Given the description of an element on the screen output the (x, y) to click on. 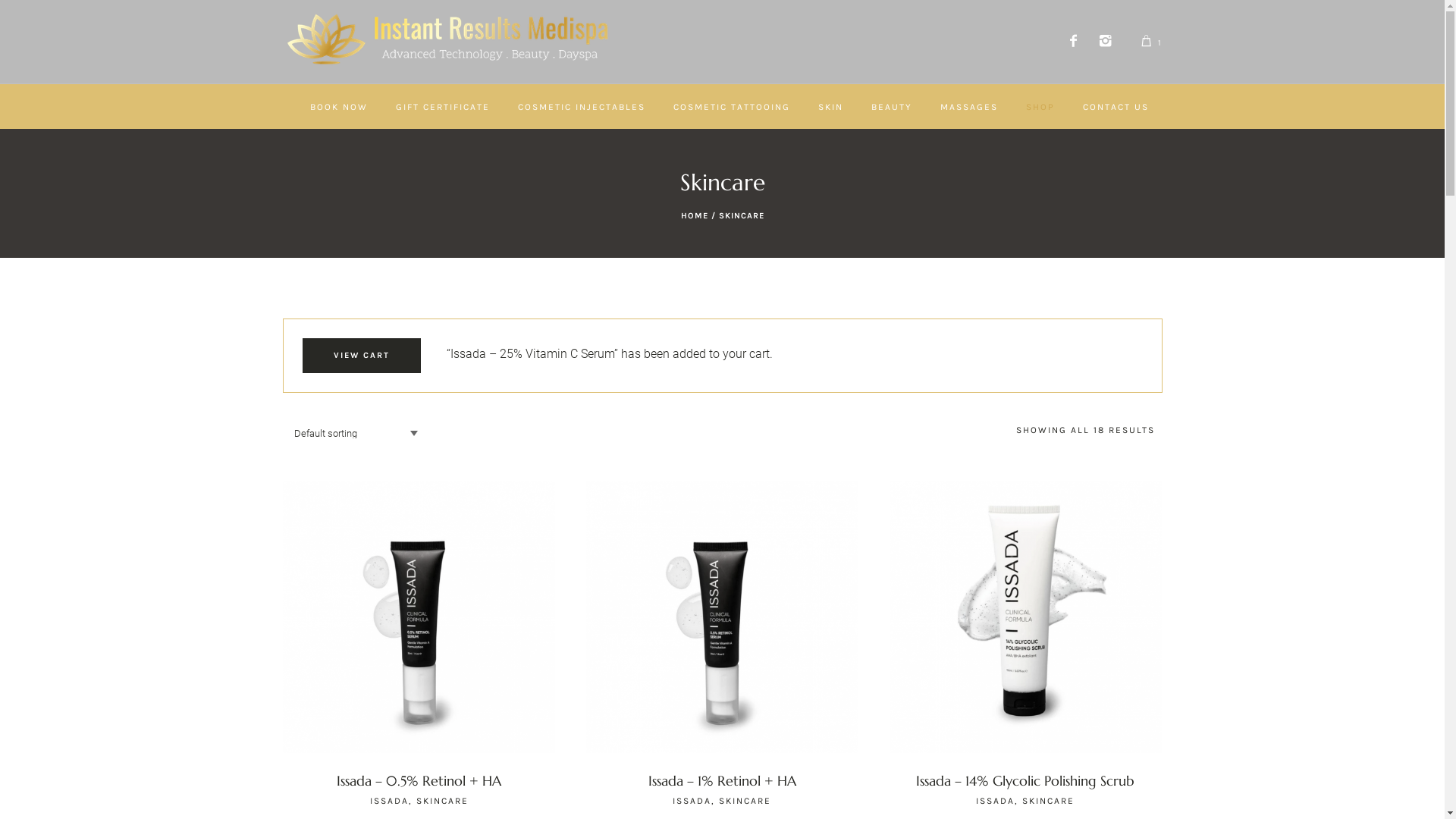
ISSADA Element type: text (389, 800)
SKINCARE Element type: text (744, 800)
GIFT CERTIFICATE Element type: text (442, 106)
ISSADA Element type: text (691, 800)
Instagram Element type: hover (1105, 42)
BOOK NOW Element type: text (337, 106)
VIEW CART Element type: text (360, 355)
SKINCARE Element type: text (442, 800)
SHOP Element type: text (1039, 106)
HOME Element type: text (694, 215)
COSMETIC INJECTABLES Element type: text (580, 106)
ISSADA Element type: text (994, 800)
SKIN Element type: text (829, 106)
COSMETIC TATTOOING Element type: text (731, 106)
SKINCARE Element type: text (1048, 800)
Facebook Element type: hover (1073, 42)
BEAUTY Element type: text (890, 106)
MASSAGES Element type: text (968, 106)
1 Element type: text (1150, 41)
CONTACT US Element type: text (1115, 106)
